Given the description of an element on the screen output the (x, y) to click on. 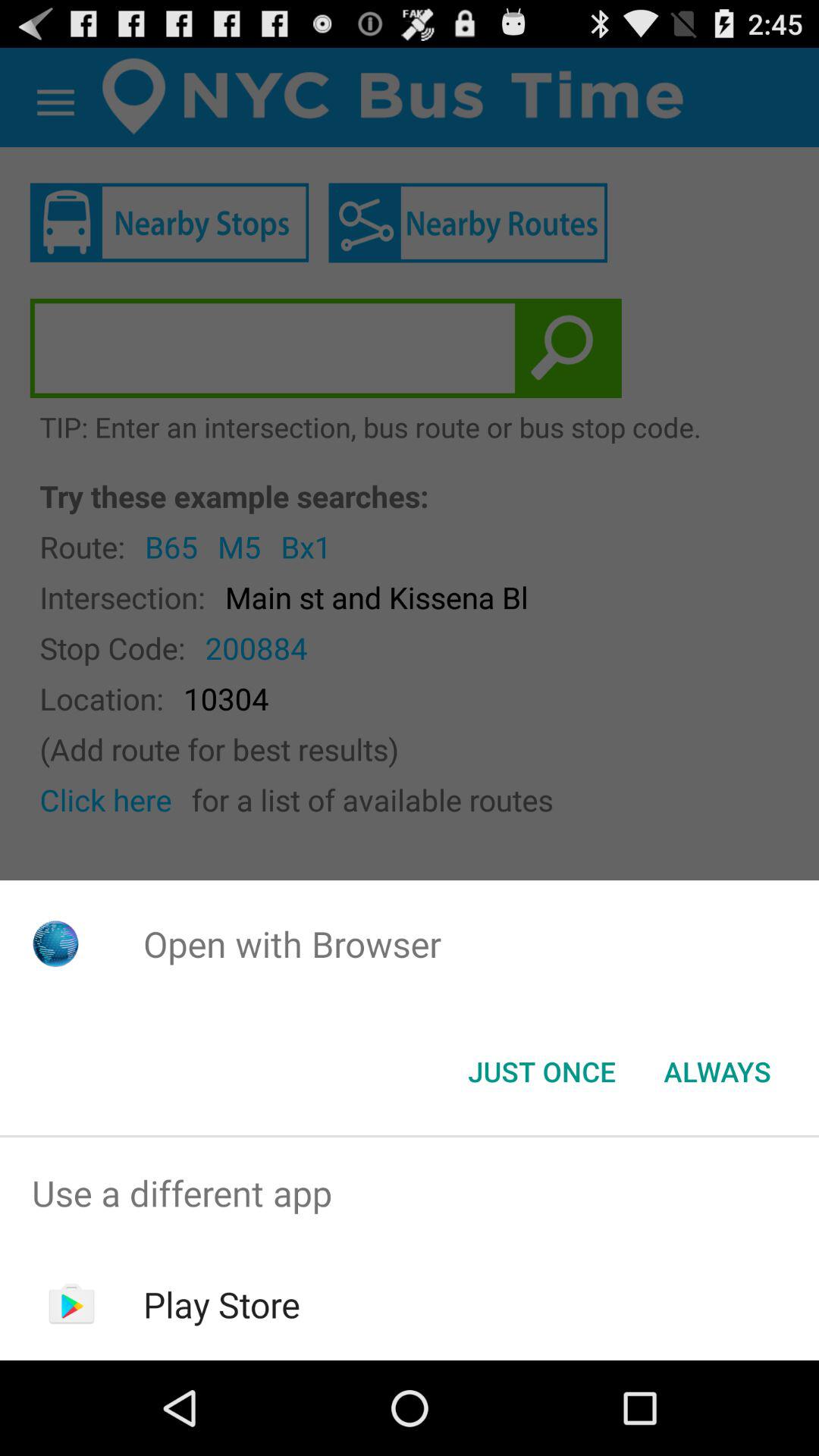
select the icon to the right of just once (717, 1071)
